Given the description of an element on the screen output the (x, y) to click on. 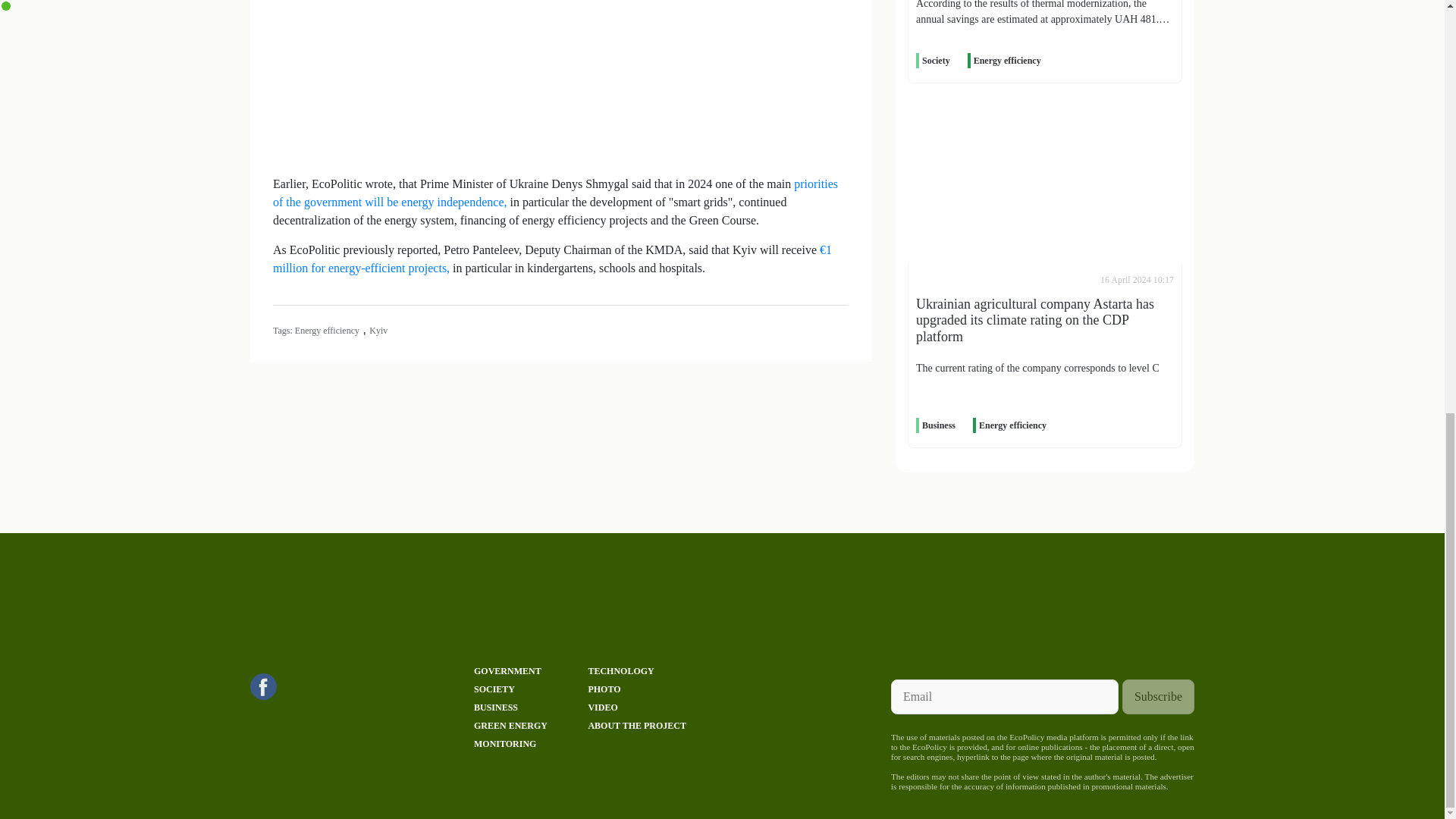
Energy efficiency (327, 330)
Energy efficiency (1007, 60)
Kyiv (378, 330)
GOVERNMENT (507, 670)
Society (935, 60)
Business (937, 425)
Energy efficiency (1012, 425)
priorities of the government will be energy independence, (555, 192)
